Given the description of an element on the screen output the (x, y) to click on. 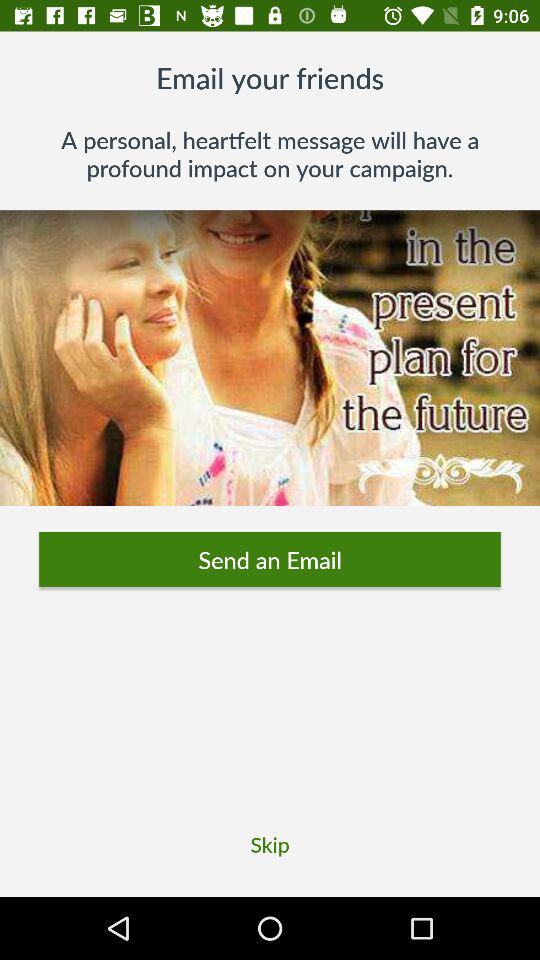
jump until the skip (270, 844)
